Given the description of an element on the screen output the (x, y) to click on. 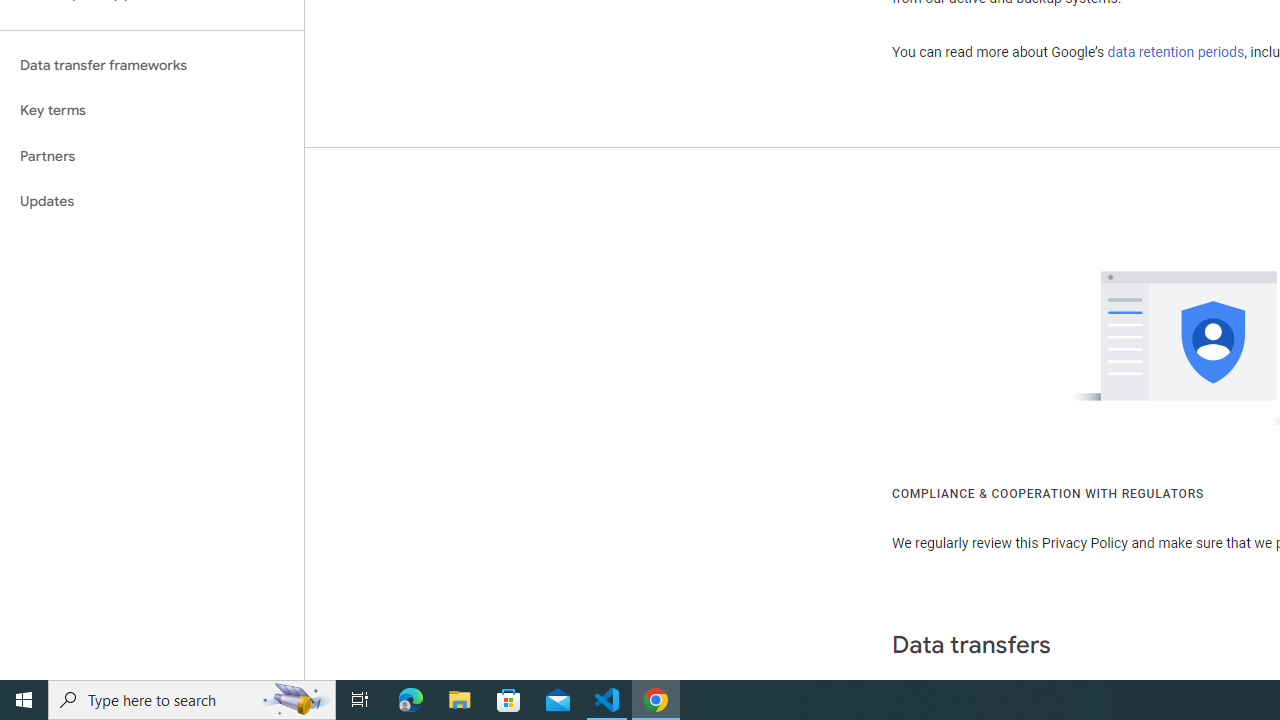
Data transfer frameworks (152, 65)
data retention periods (1176, 52)
Key terms (152, 110)
Partners (152, 156)
Updates (152, 201)
